Given the description of an element on the screen output the (x, y) to click on. 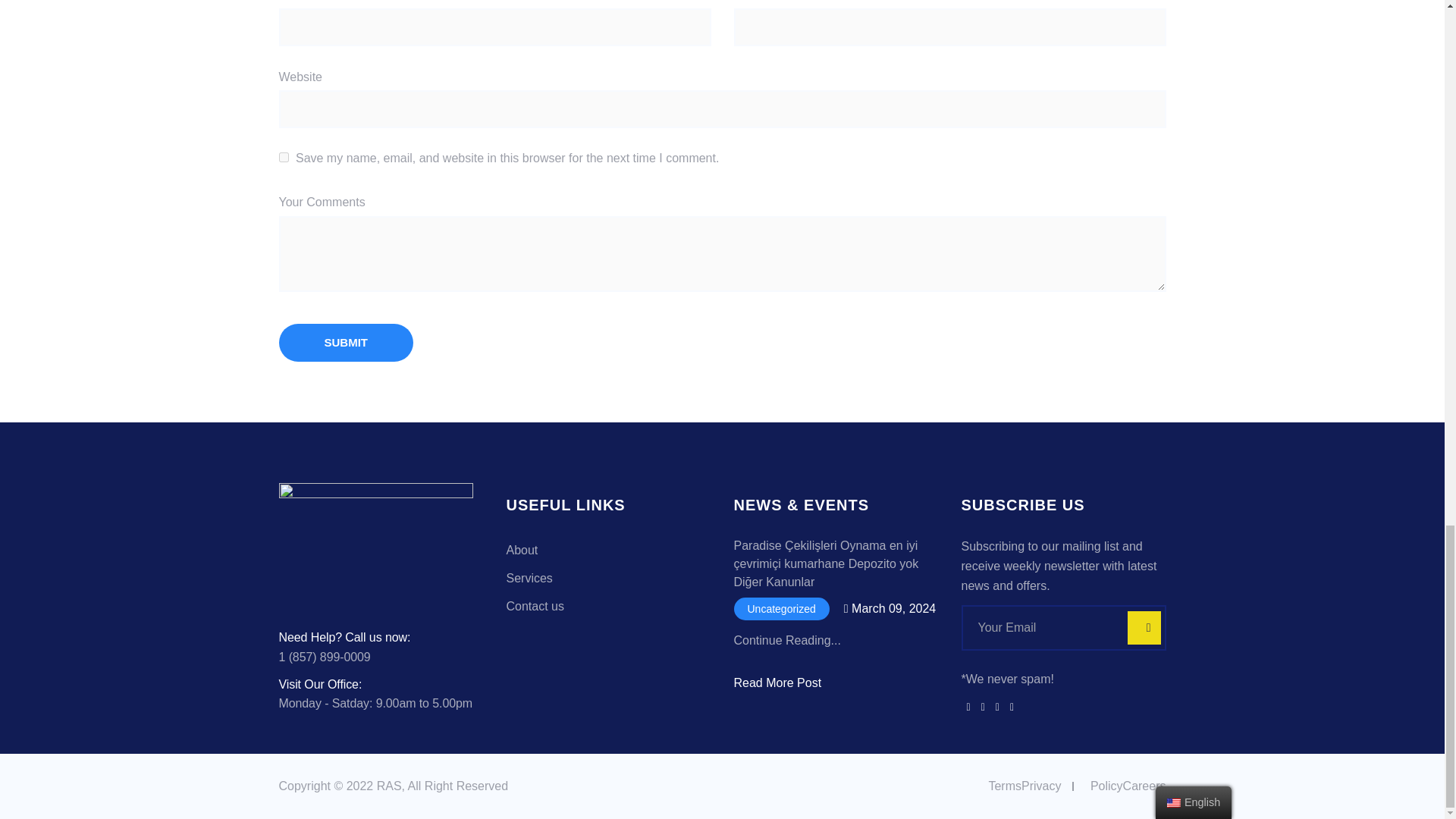
Continue Reading... (787, 640)
Join (1139, 627)
About (522, 549)
Join (1139, 627)
Uncategorized (781, 608)
Read More Post (777, 682)
yes (283, 157)
Services (529, 577)
Submit (346, 342)
Contact us (535, 605)
